Given the description of an element on the screen output the (x, y) to click on. 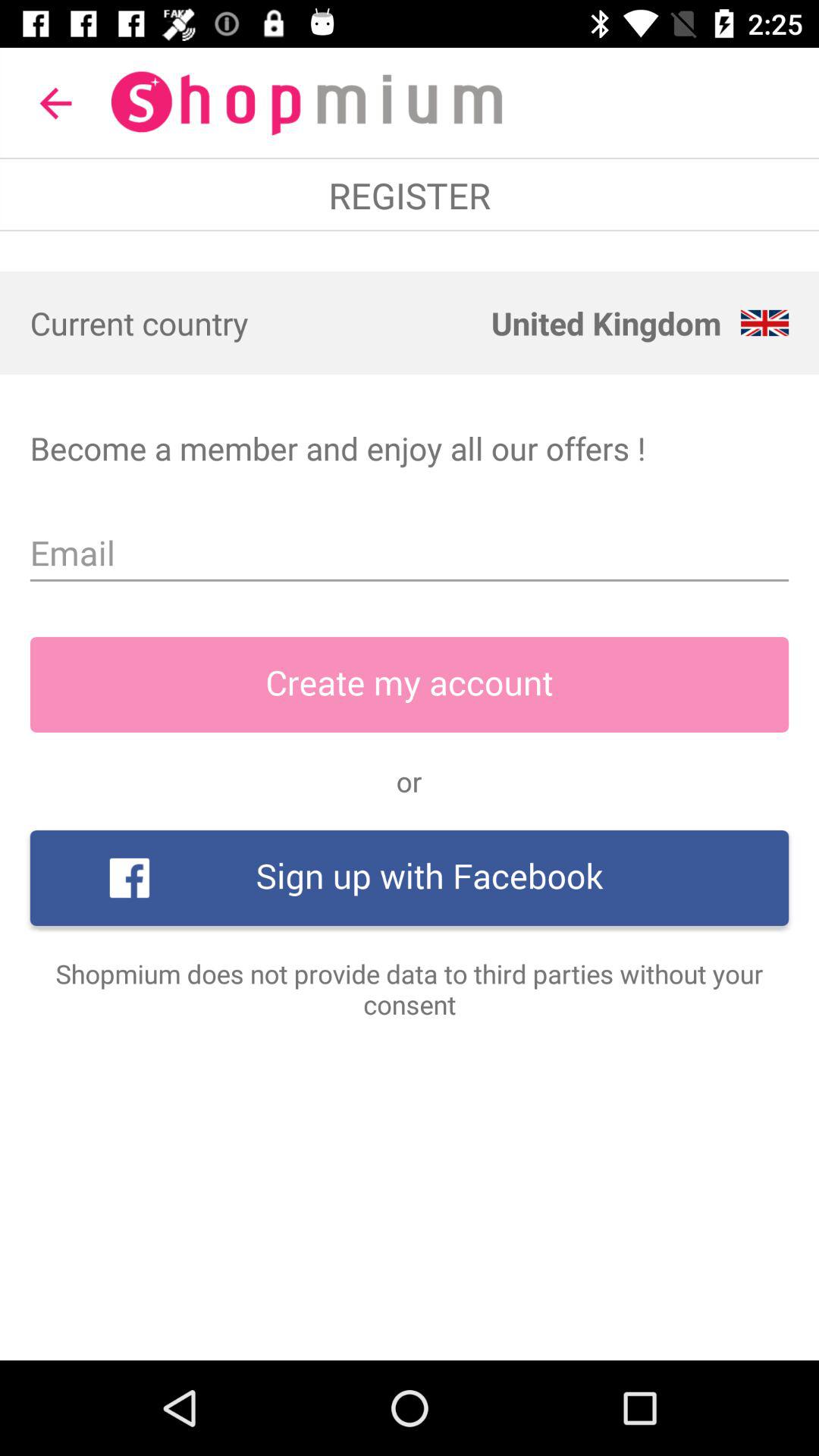
enter email (409, 553)
